Given the description of an element on the screen output the (x, y) to click on. 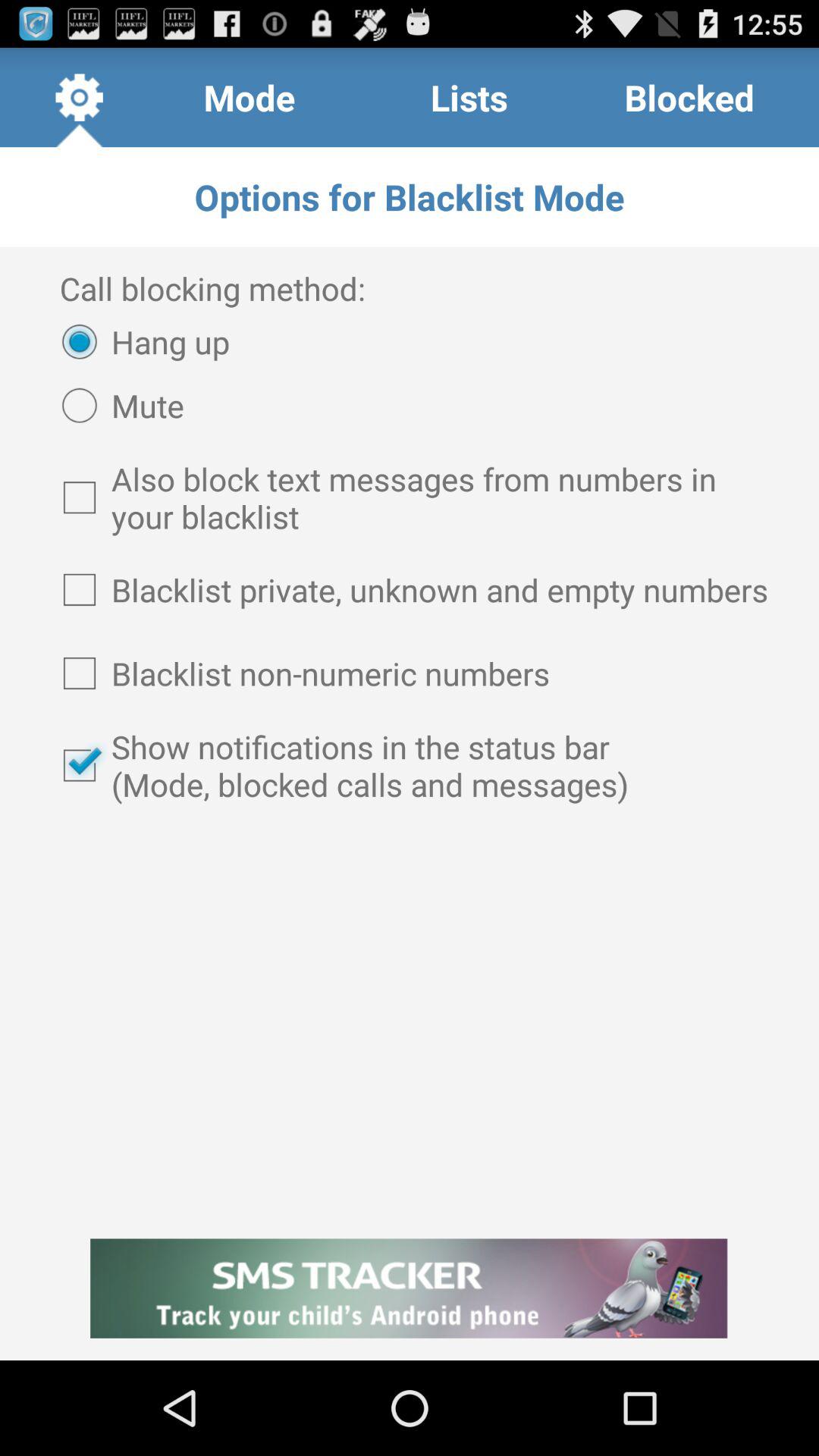
click the radio button above the mute (138, 341)
